Given the description of an element on the screen output the (x, y) to click on. 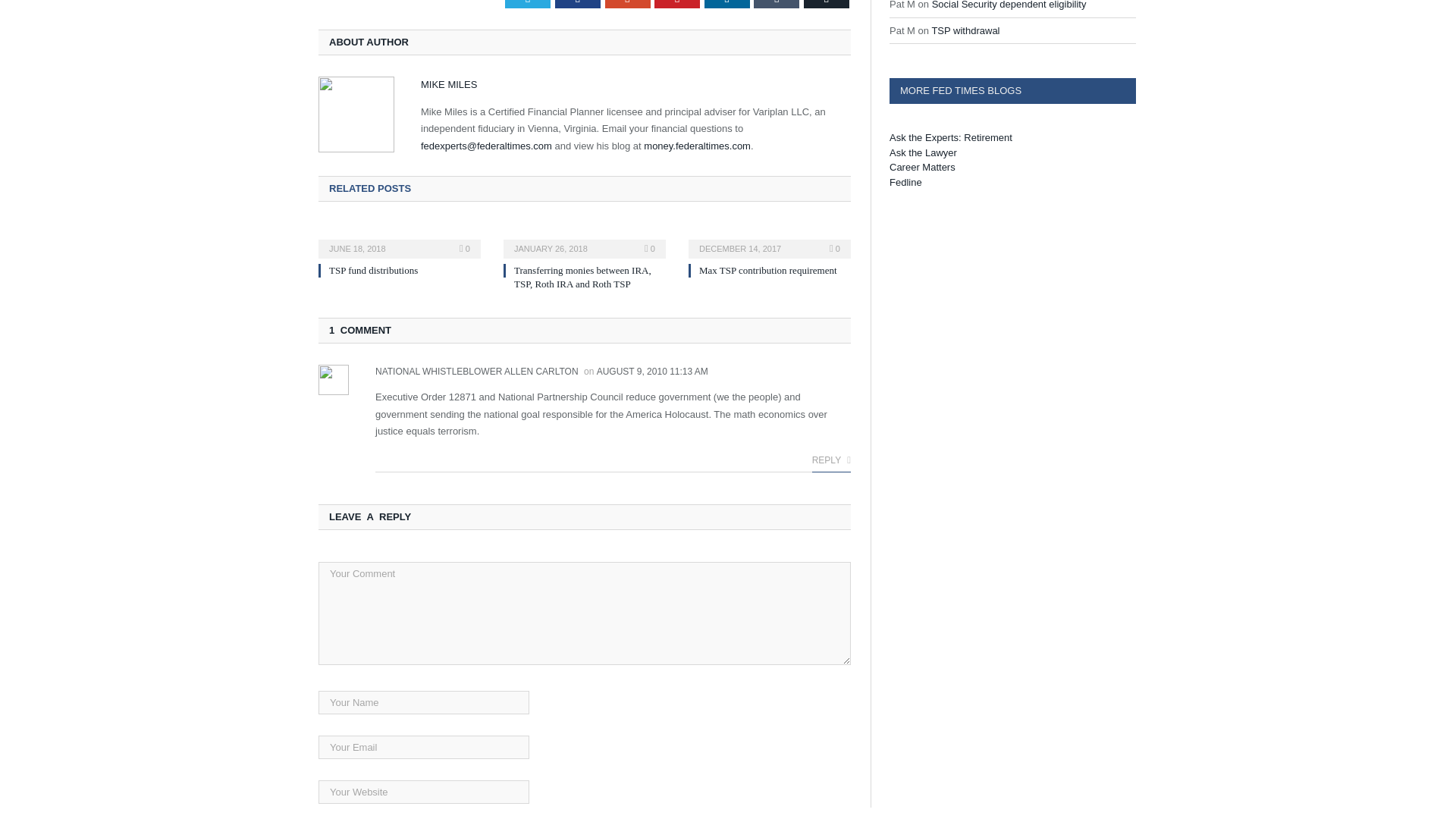
Tumblr (776, 4)
MIKE MILES (448, 84)
Email (825, 4)
Share on Facebook (576, 4)
Tweet It (527, 4)
Facebook (576, 4)
Twitter (527, 4)
TSP fund distributions (373, 270)
LinkedIn (726, 4)
money.federaltimes.com (697, 145)
